Given the description of an element on the screen output the (x, y) to click on. 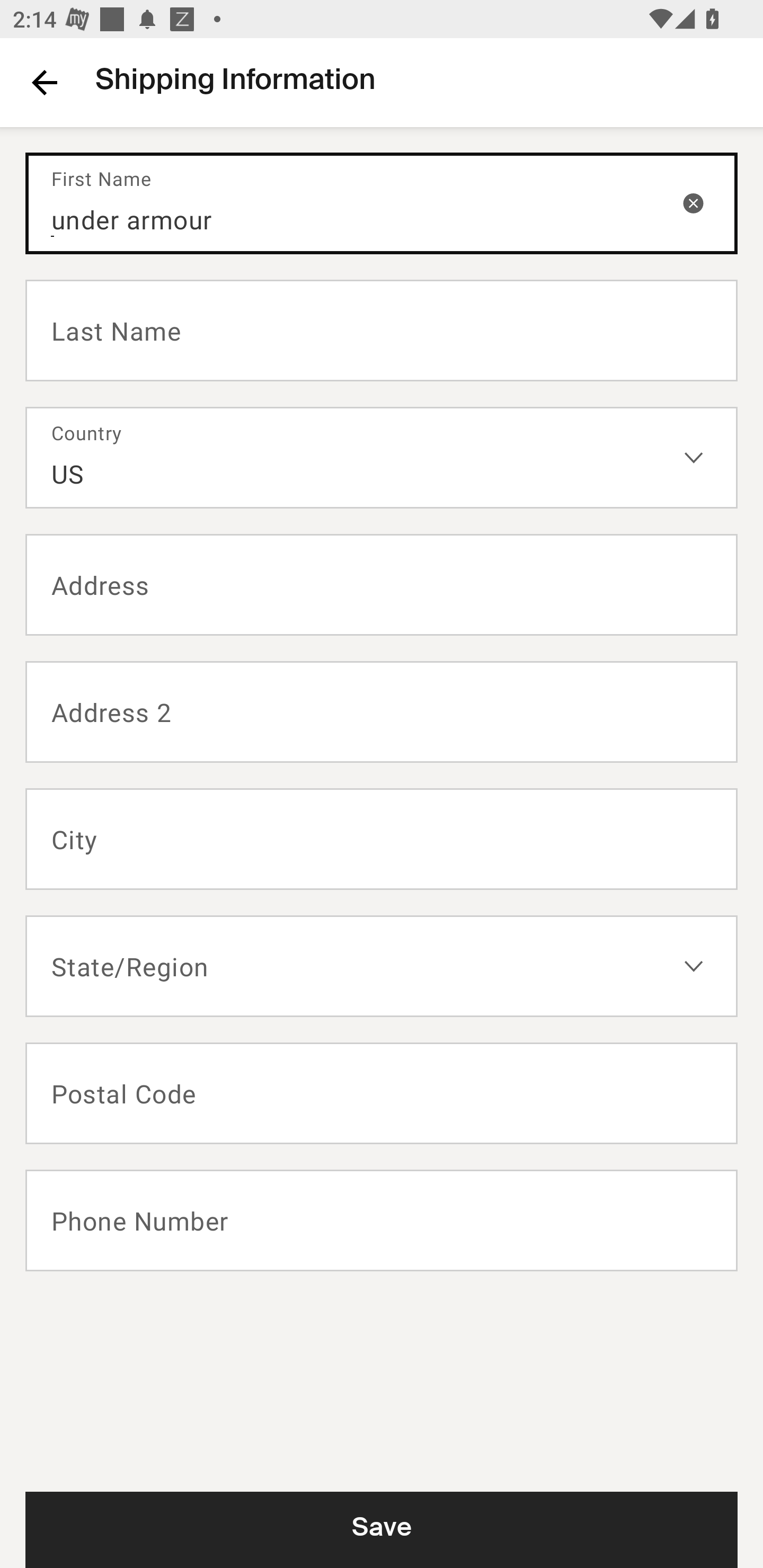
Navigate up (44, 82)
Icon to clear the text entered in field (693, 202)
Last Name (381, 330)
Address (381, 584)
Address 2 (381, 711)
City (381, 839)
Postal Code (381, 1093)
Phone Number (381, 1220)
Save (381, 1529)
